Given the description of an element on the screen output the (x, y) to click on. 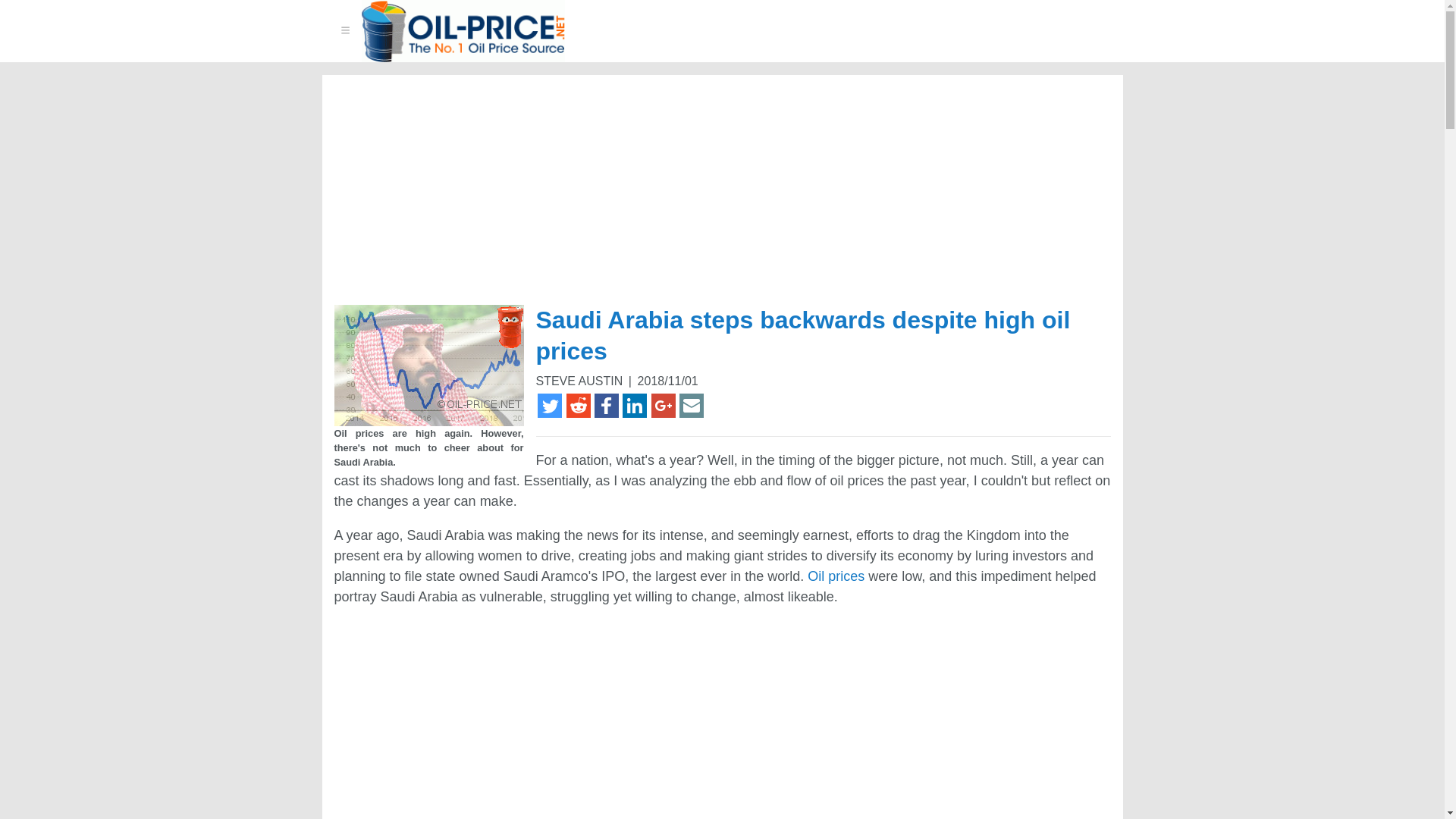
Saudi Arabia steps backwards despite high oil prices (427, 364)
Oil prices (836, 575)
Advertisement (463, 721)
Saudi Arabia steps backwards despite high oil prices (802, 335)
